Given the description of an element on the screen output the (x, y) to click on. 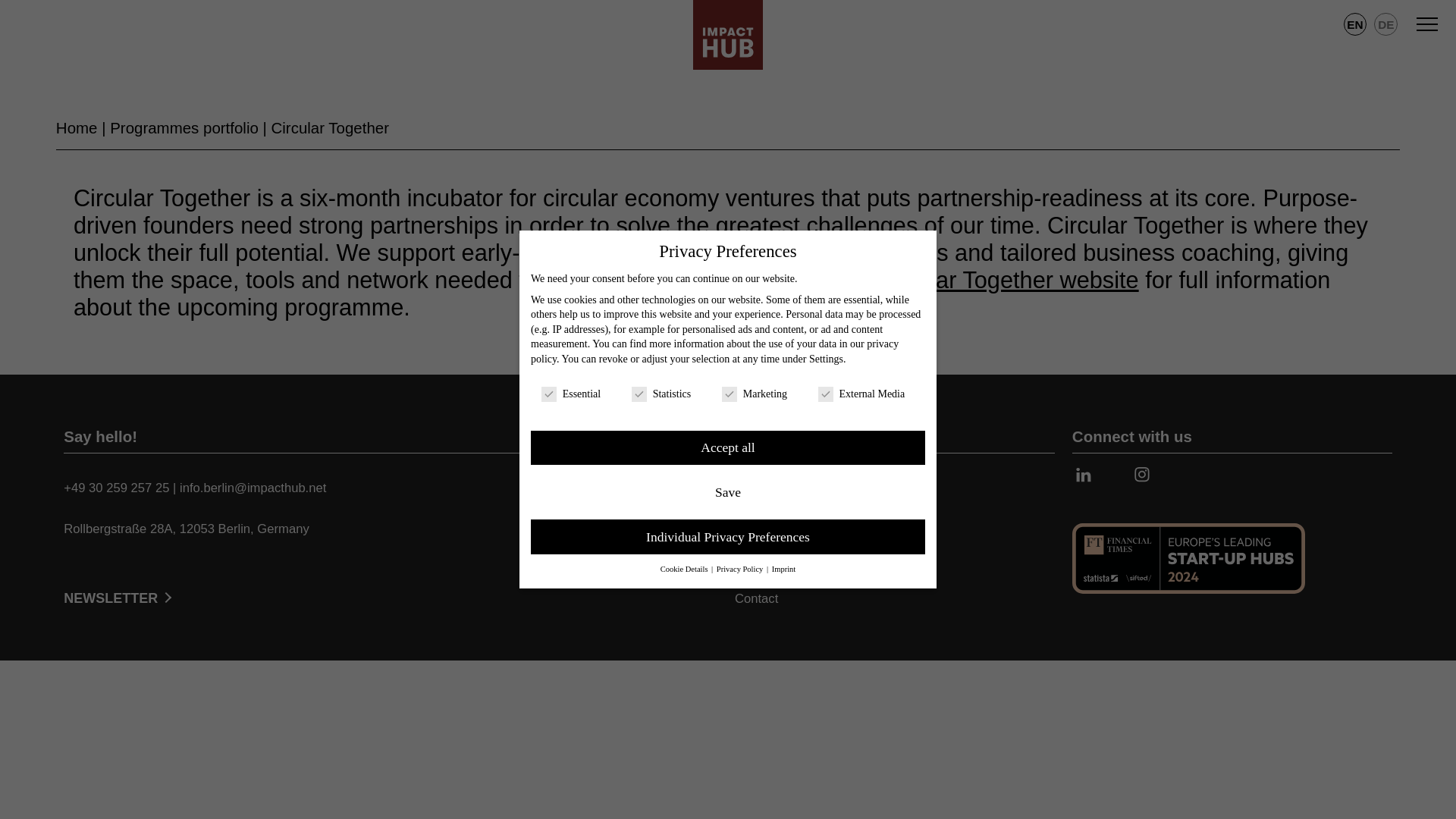
Accept all (727, 448)
Individual Privacy Preferences (727, 536)
Save (727, 492)
Home (76, 127)
Contact (770, 598)
Settings (826, 358)
Programmes portfolio (184, 127)
privacy policy (714, 351)
Data Privacy (770, 563)
DE (1385, 24)
